Given the description of an element on the screen output the (x, y) to click on. 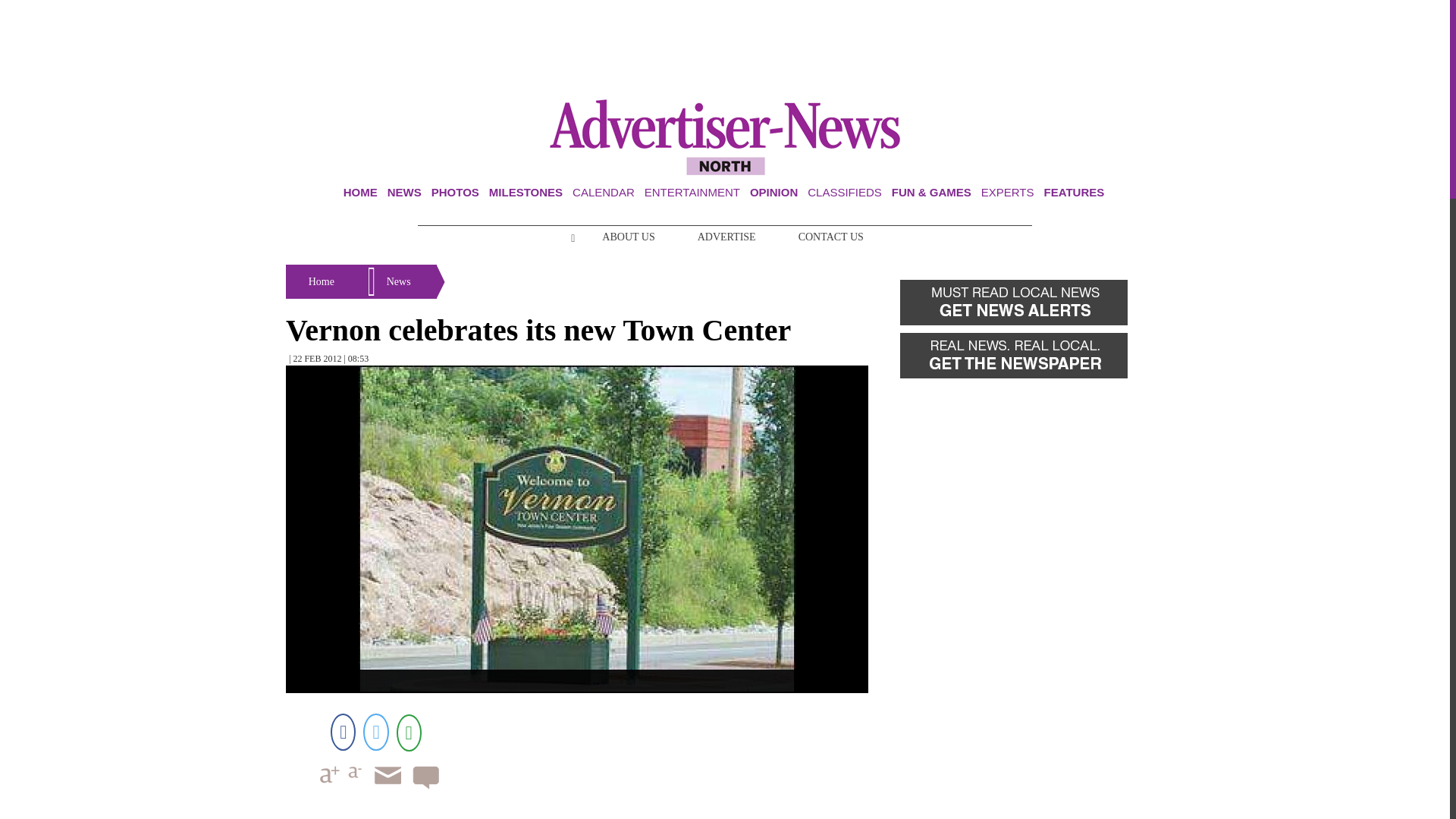
CLASSIFIEDS (845, 192)
NEWS (404, 192)
ENTERTAINMENT (692, 192)
OPINION (773, 192)
HOME (360, 192)
3rd party ad content (724, 49)
MILESTONES (525, 192)
FEATURES (1074, 192)
EXPERTS (1007, 192)
CALENDAR (603, 192)
